Given the description of an element on the screen output the (x, y) to click on. 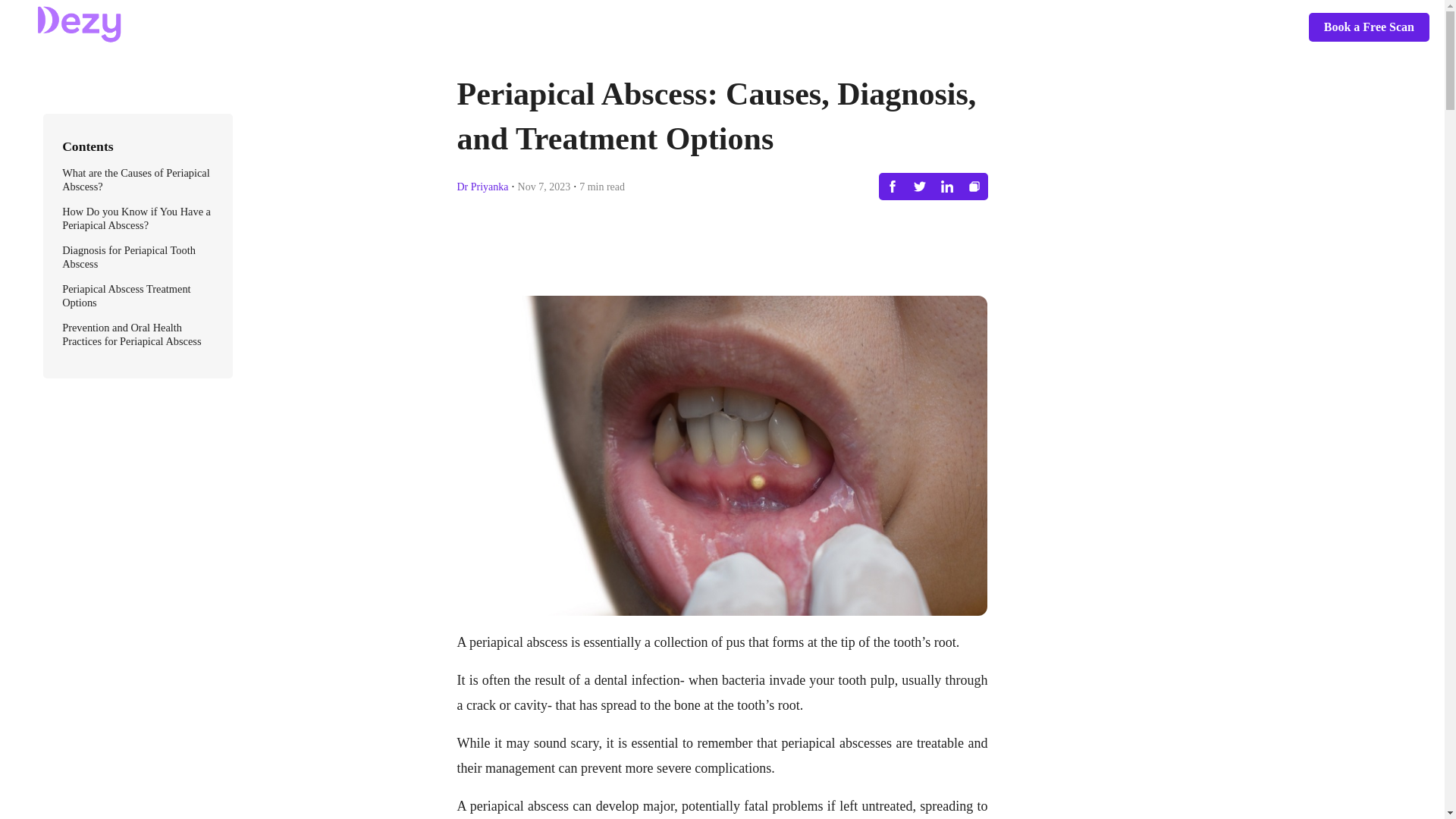
Book a Free Scan (1368, 26)
Book a Free Scan (1369, 26)
Dr Priyanka (482, 185)
Prevention and Oral Health Practices for Periapical Abscess (131, 334)
What are the Causes of Periapical Abscess? (135, 179)
How Do you Know if You Have a Periapical Abscess? (136, 217)
Diagnosis for Periapical Tooth Abscess (128, 257)
Periapical Abscess Treatment Options  (126, 295)
